Given the description of an element on the screen output the (x, y) to click on. 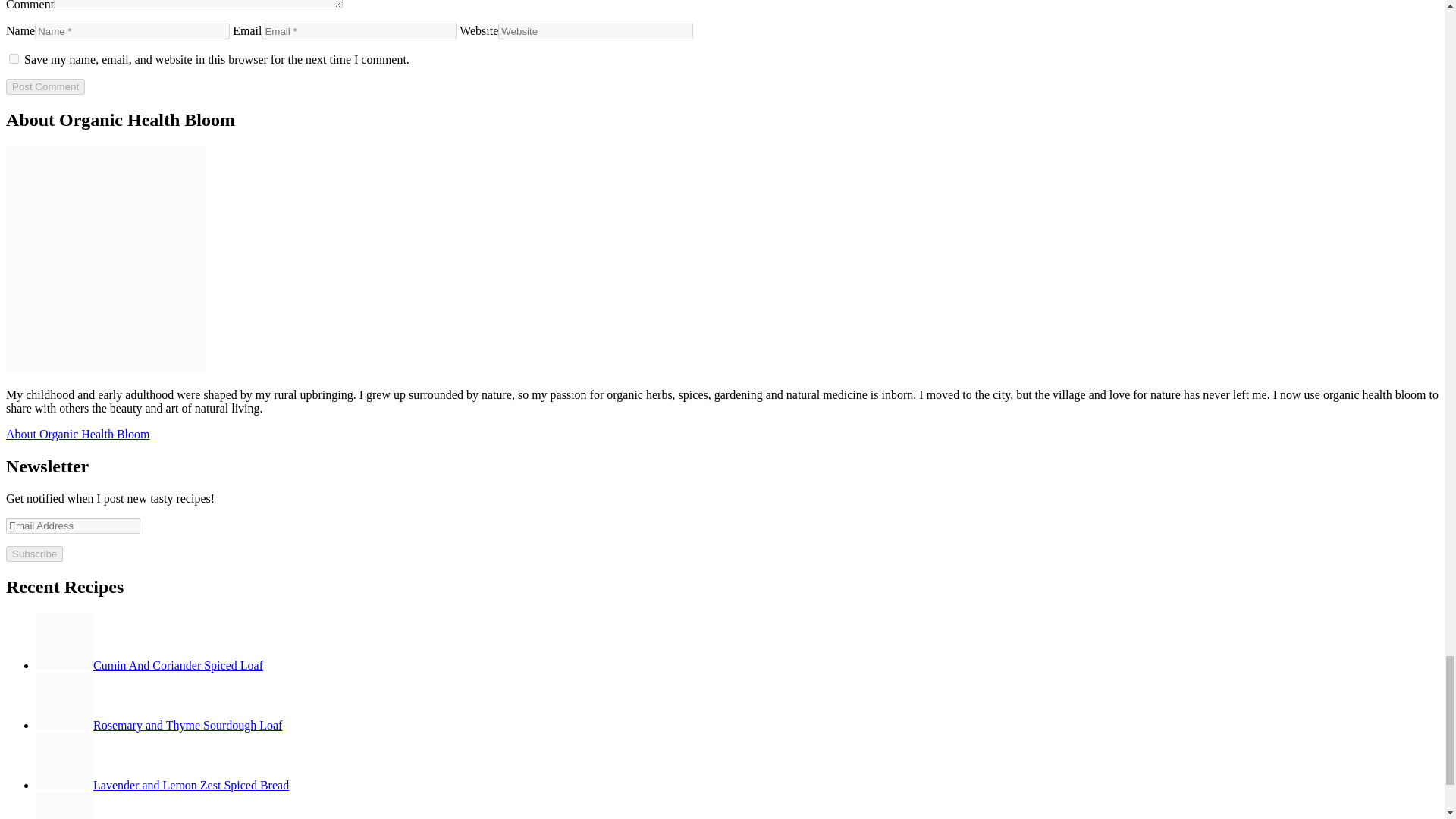
Post Comment (44, 86)
Subscribe (33, 553)
yes (13, 58)
About Organic Health Bloom (77, 433)
Cumin And Coriander Spiced Loaf (149, 665)
Subscribe (33, 553)
Post Comment (44, 86)
Rosemary and Thyme Sourdough Loaf (159, 725)
